Given the description of an element on the screen output the (x, y) to click on. 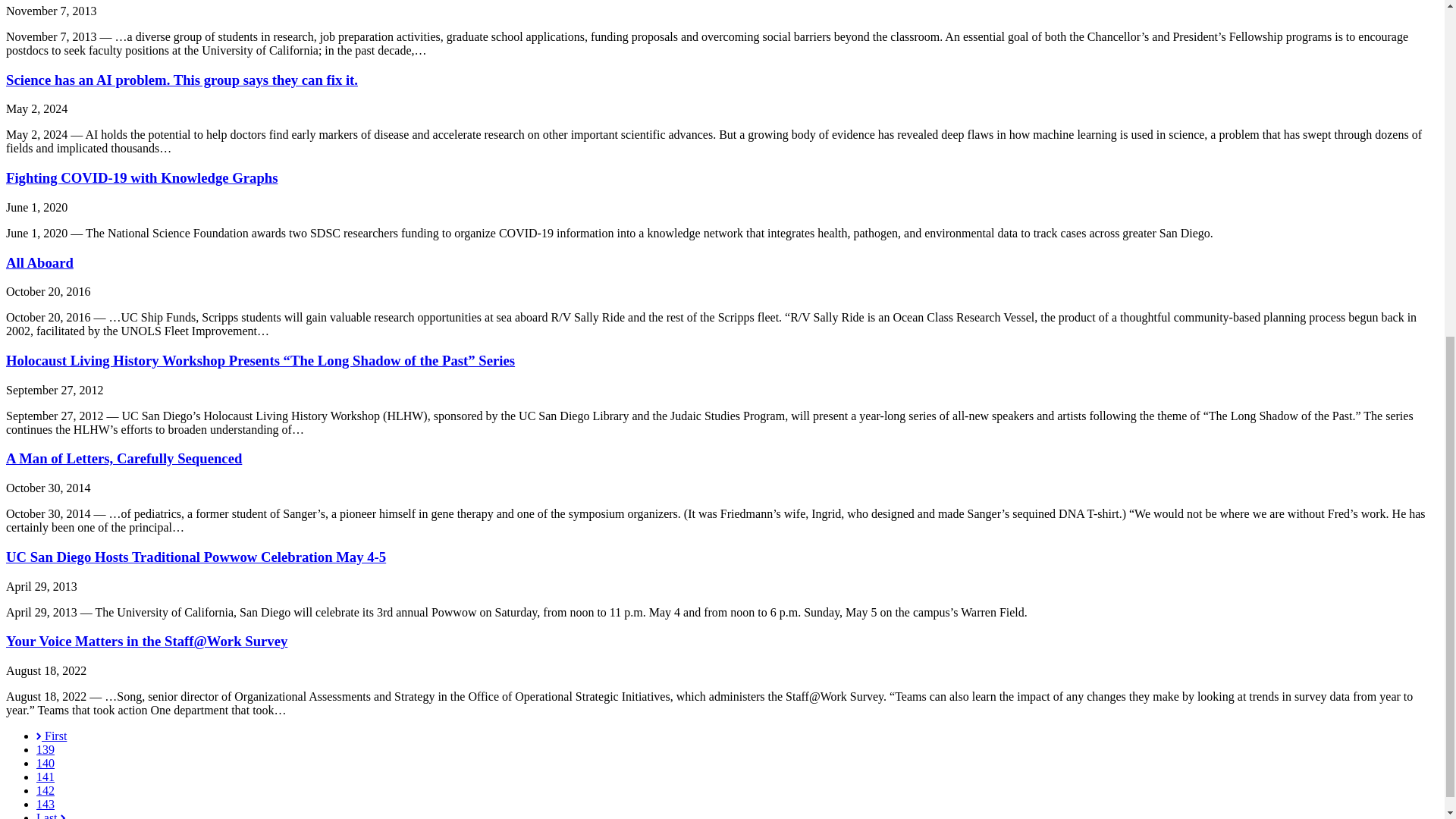
140 (45, 762)
A Man of Letters, Carefully Sequenced (123, 458)
Science has an AI problem. This group says they can fix it. (181, 79)
Fighting COVID-19 with Knowledge Graphs (141, 177)
142 (45, 789)
First (51, 735)
143 (45, 803)
UC San Diego Hosts Traditional Powwow Celebration May 4-5 (195, 556)
141 (45, 776)
139 (45, 748)
